Given the description of an element on the screen output the (x, y) to click on. 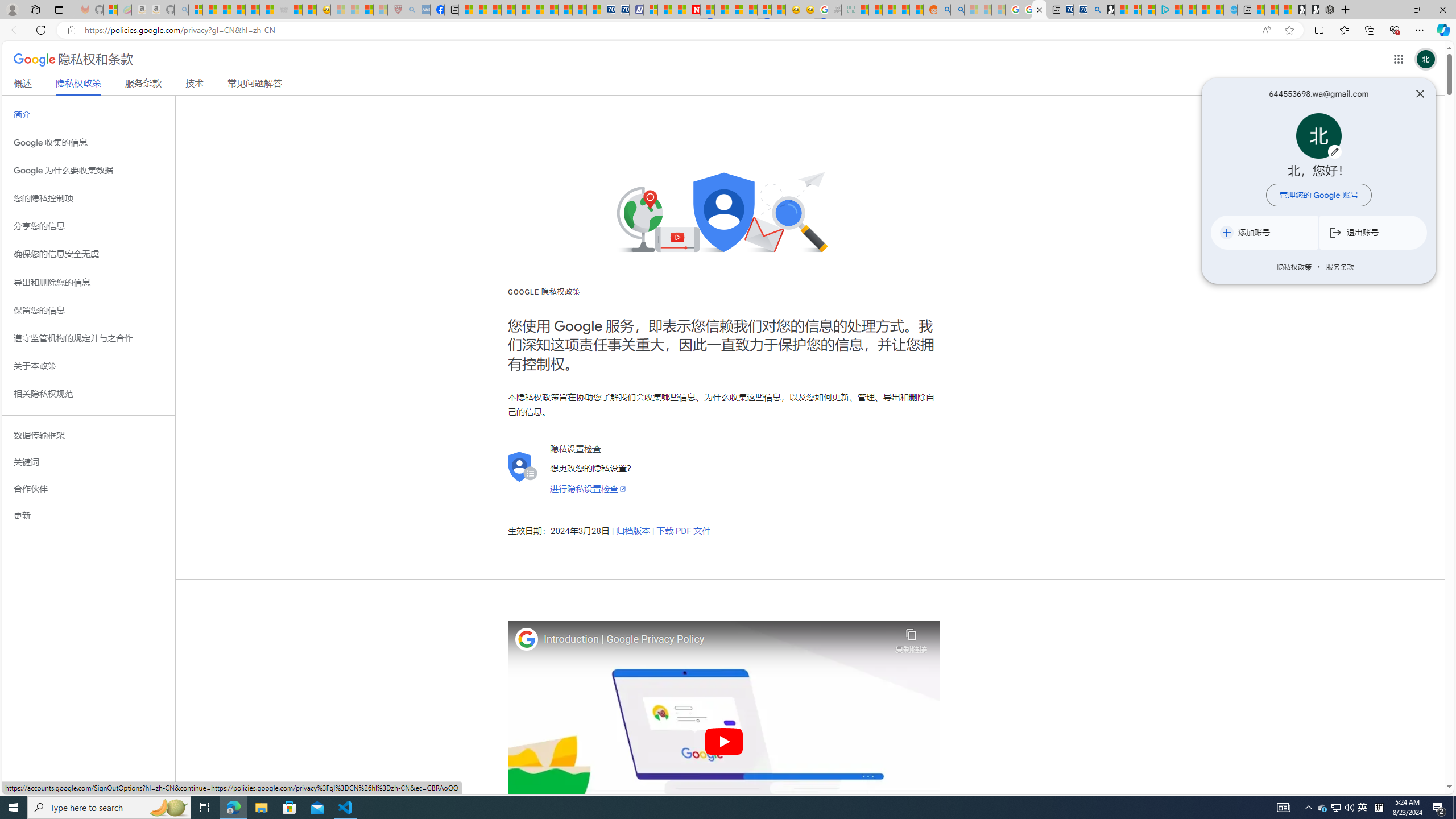
14 Common Myths Debunked By Scientific Facts (721, 9)
Class: gb_E (1398, 59)
